Given the description of an element on the screen output the (x, y) to click on. 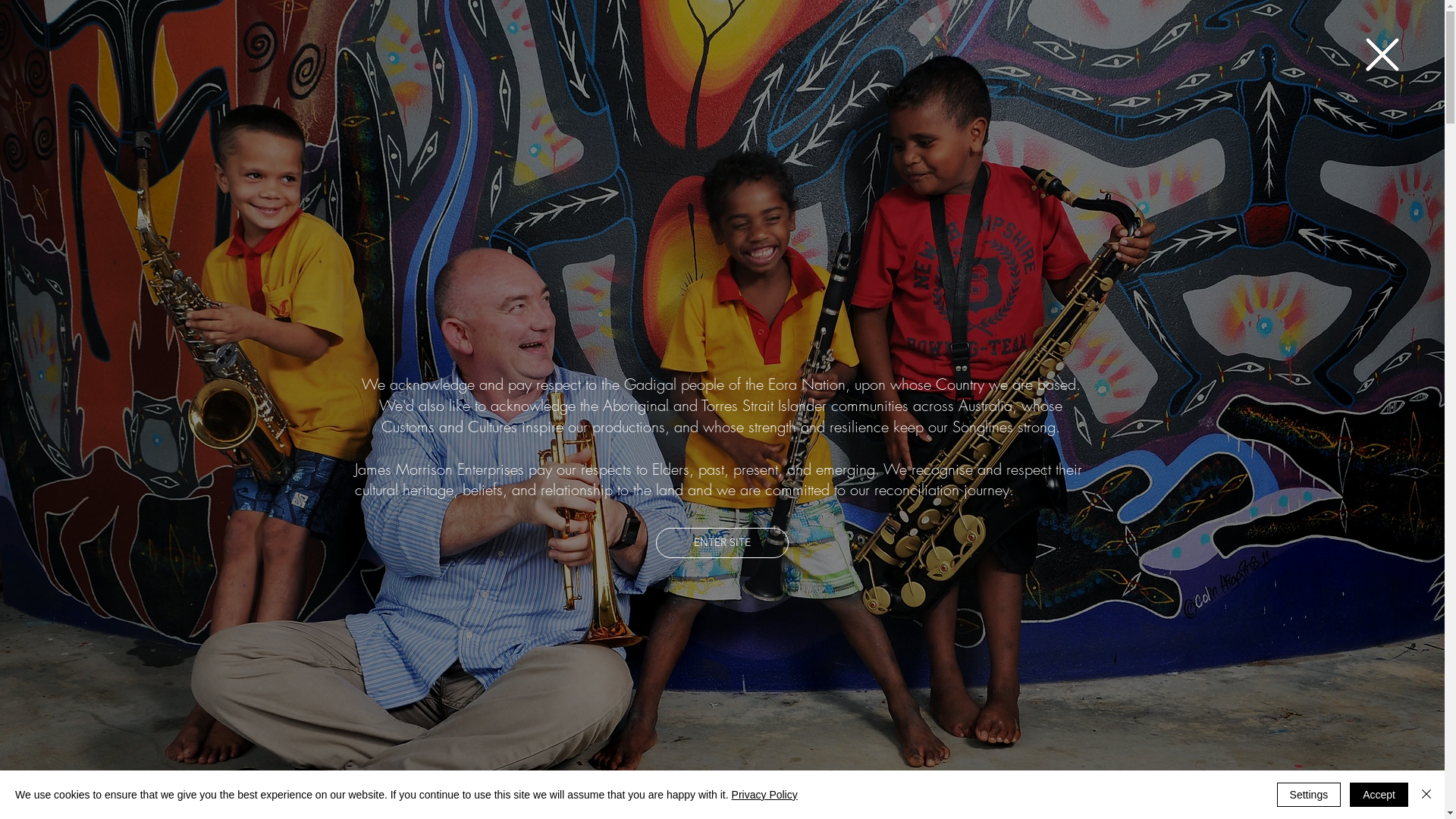
Settings Element type: text (1309, 794)
JAMES MORRISON Element type: text (118, 51)
Accept Element type: text (1378, 794)
Privacy Policy Element type: text (764, 794)
ABOUT JAMES Element type: text (738, 628)
Back to site Element type: hover (1382, 54)
